Given the description of an element on the screen output the (x, y) to click on. 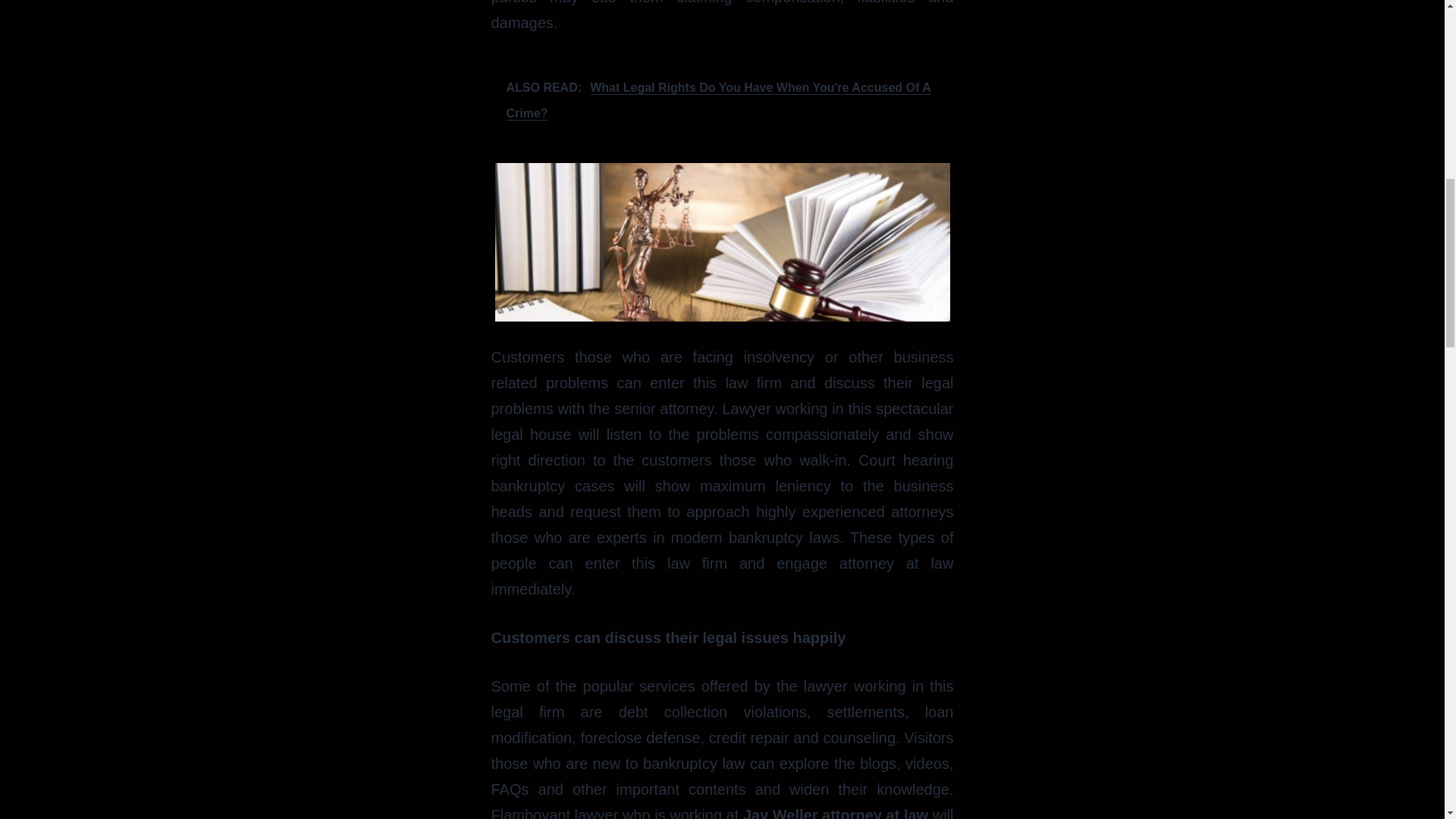
Jay Weller attorney (812, 812)
